Given the description of an element on the screen output the (x, y) to click on. 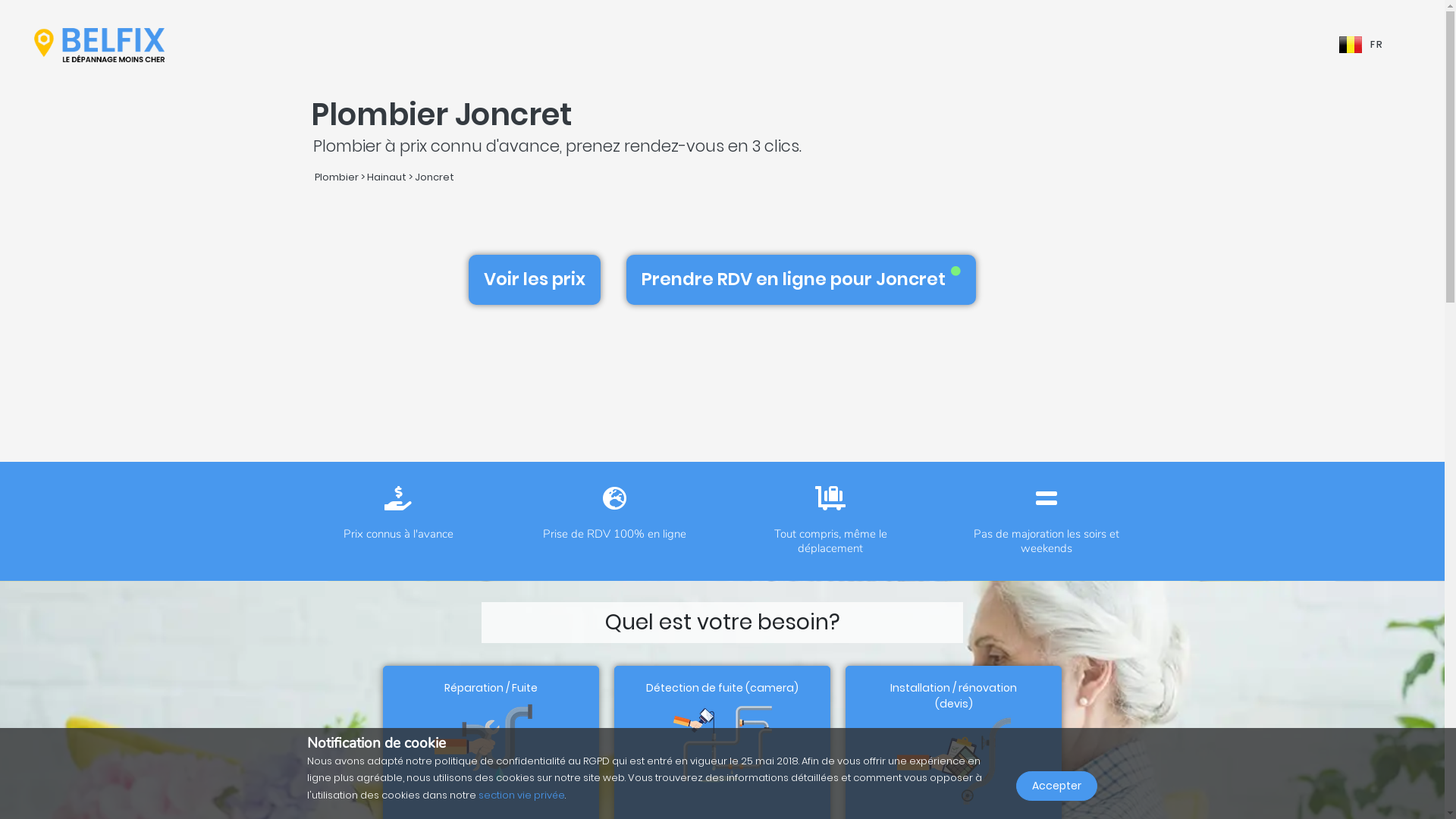
Joncret Element type: text (433, 176)
Accepter Element type: text (1056, 785)
Plombier Element type: text (335, 176)
Prendre RDV en ligne pour Joncret Element type: text (800, 279)
Hainaut Element type: text (386, 176)
Voir les prix Element type: text (534, 279)
